Given the description of an element on the screen output the (x, y) to click on. 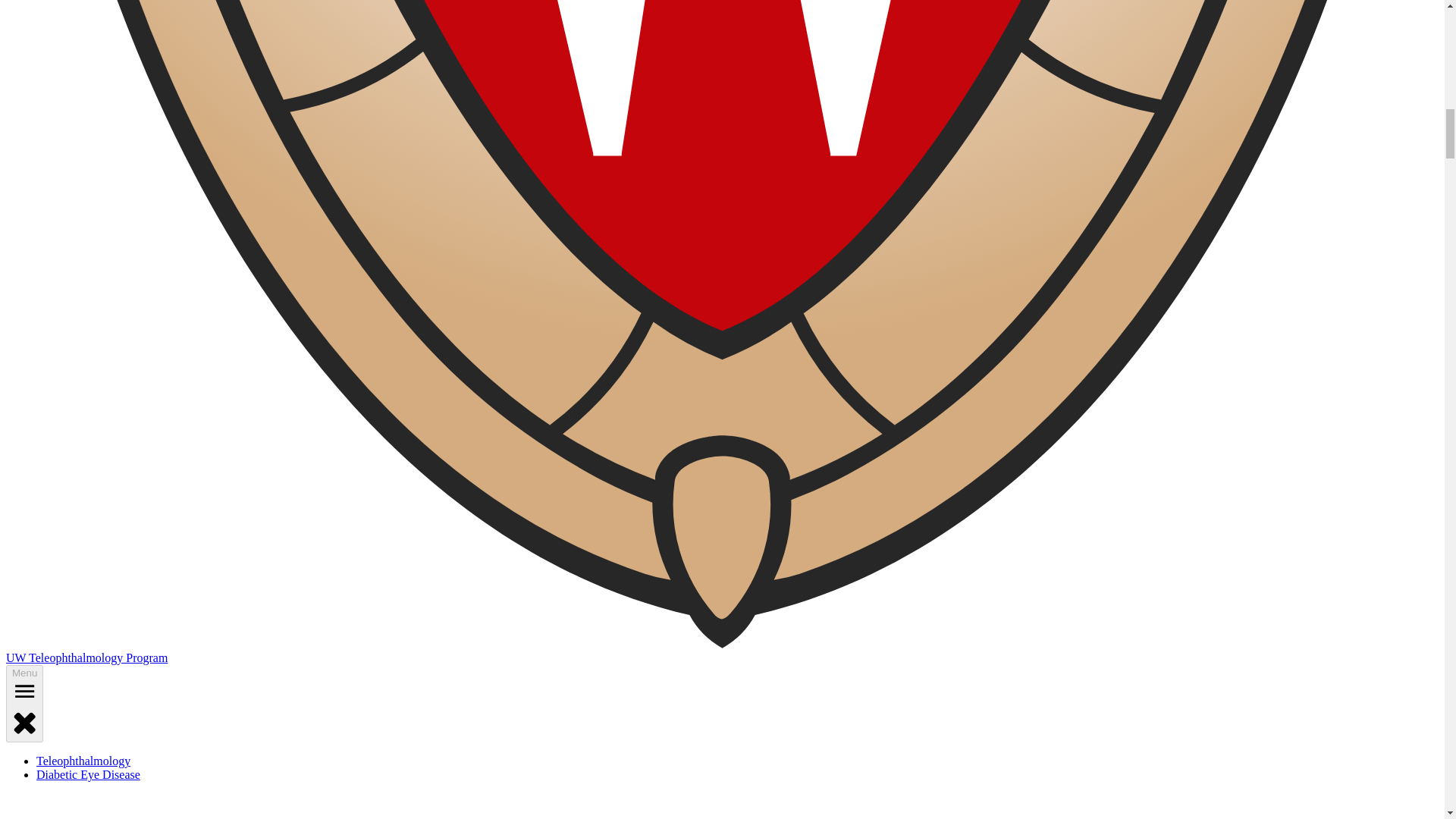
open menu (24, 691)
UW Teleophthalmology Program (86, 657)
Teleophthalmology (83, 760)
